Given the description of an element on the screen output the (x, y) to click on. 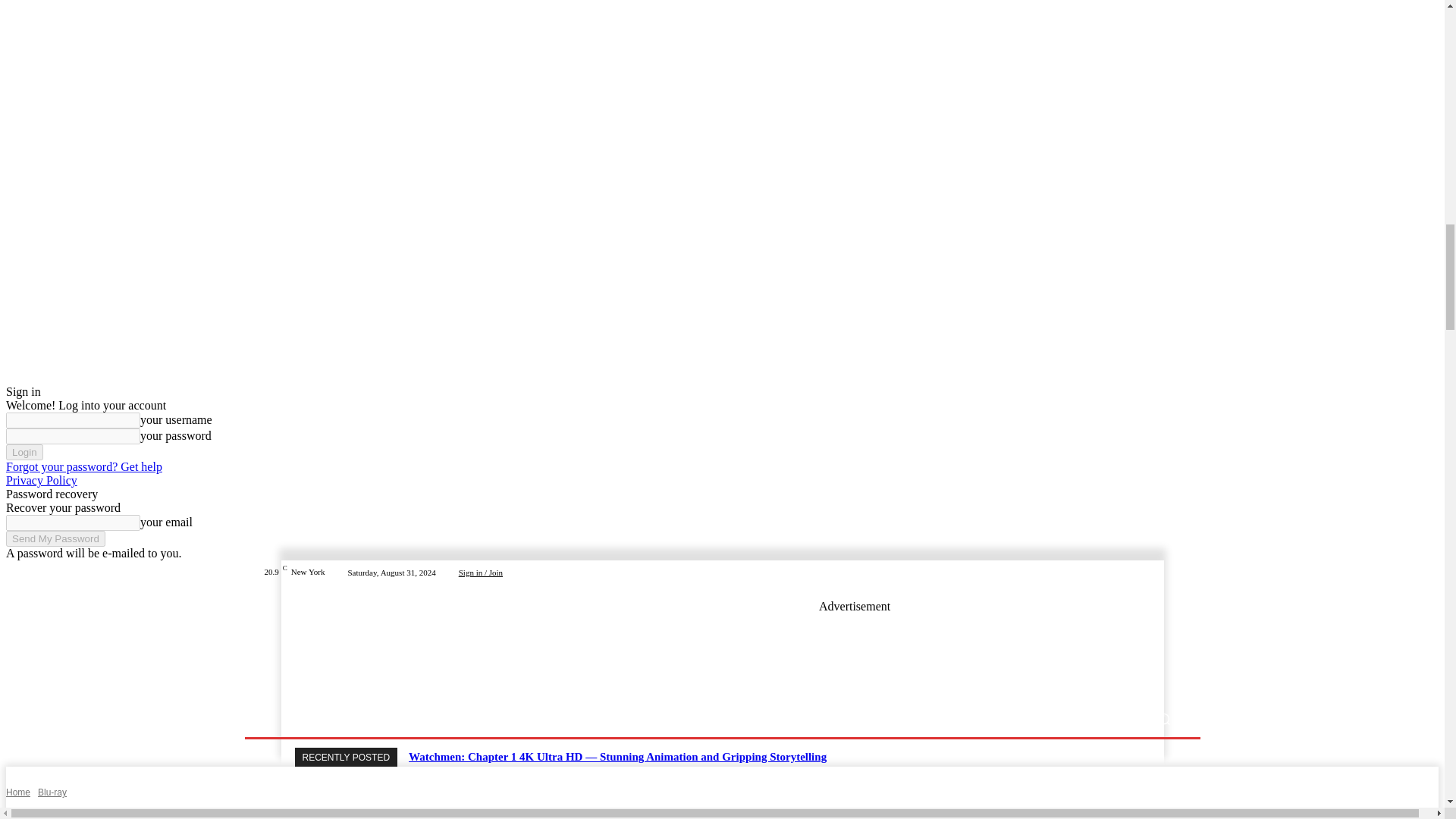
Youtube (1171, 572)
Vimeo (1153, 572)
Login (24, 452)
Facebook (1099, 572)
Twitter (1135, 572)
Send My Password (54, 538)
Instagram (1117, 572)
